Given the description of an element on the screen output the (x, y) to click on. 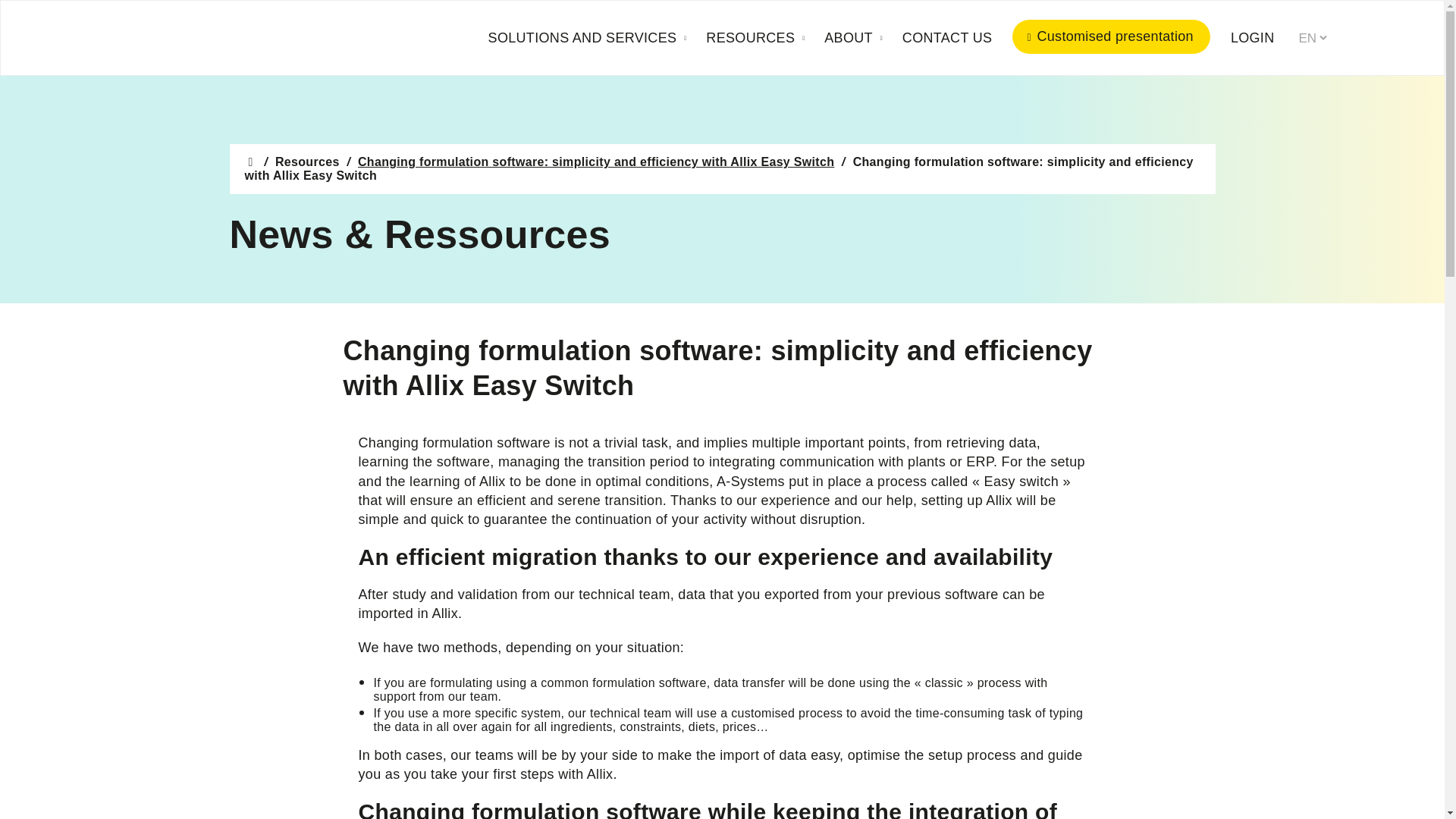
ABOUT (854, 37)
Customised presentation (1110, 36)
SOLUTIONS AND SERVICES (588, 37)
RESOURCES (756, 37)
CONTACT US (947, 37)
